Given the description of an element on the screen output the (x, y) to click on. 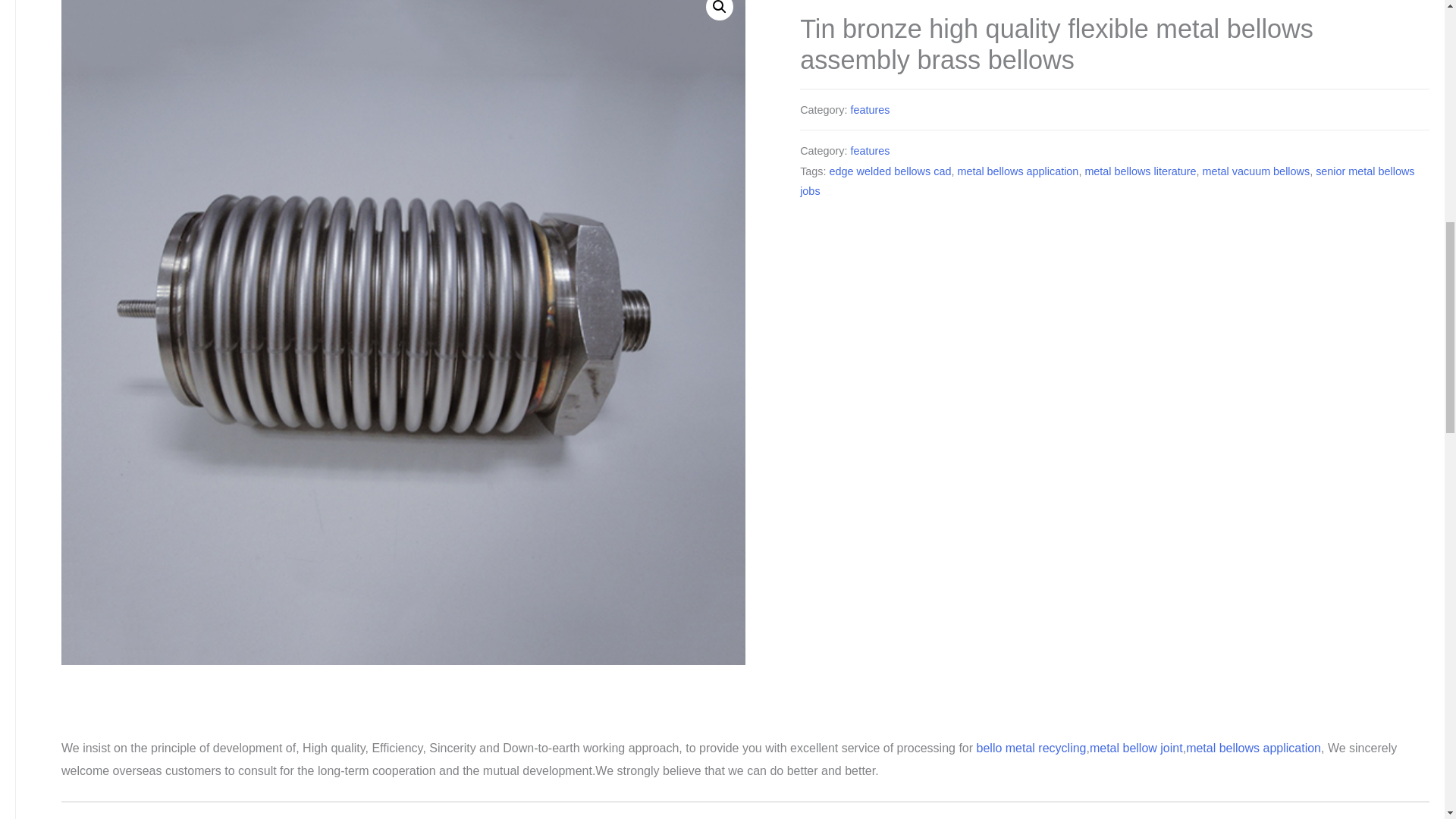
bello metal recycling (1031, 748)
senior metal bellows jobs (1106, 181)
metal vacuum bellows (1256, 171)
metal bellows application (1017, 171)
metal bellows literature (1139, 171)
metal bellows application (1253, 748)
features (869, 110)
edge welded bellows cad (890, 171)
metal bellow joint (1135, 748)
